Given the description of an element on the screen output the (x, y) to click on. 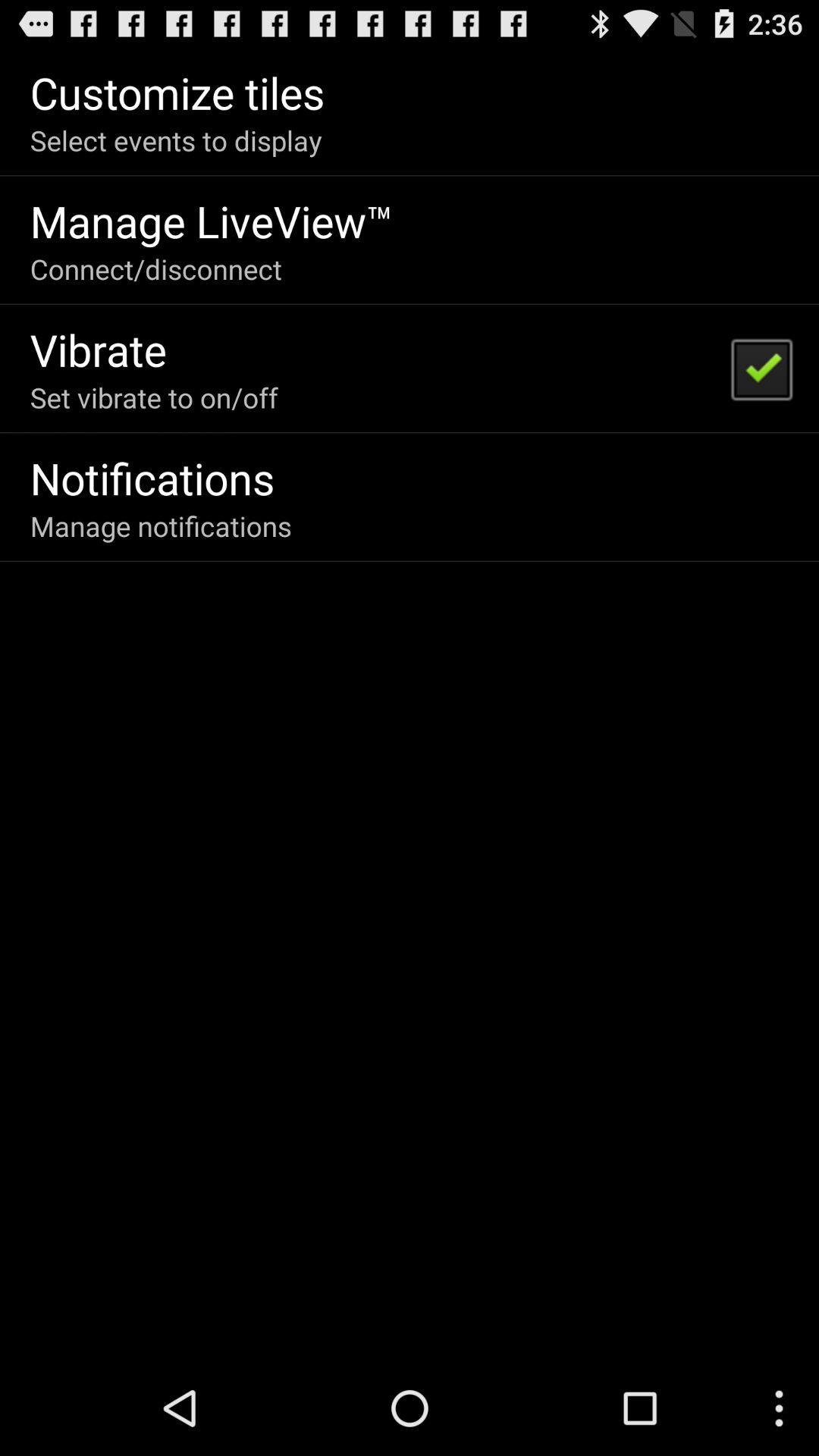
choose connect/disconnect (156, 268)
